Given the description of an element on the screen output the (x, y) to click on. 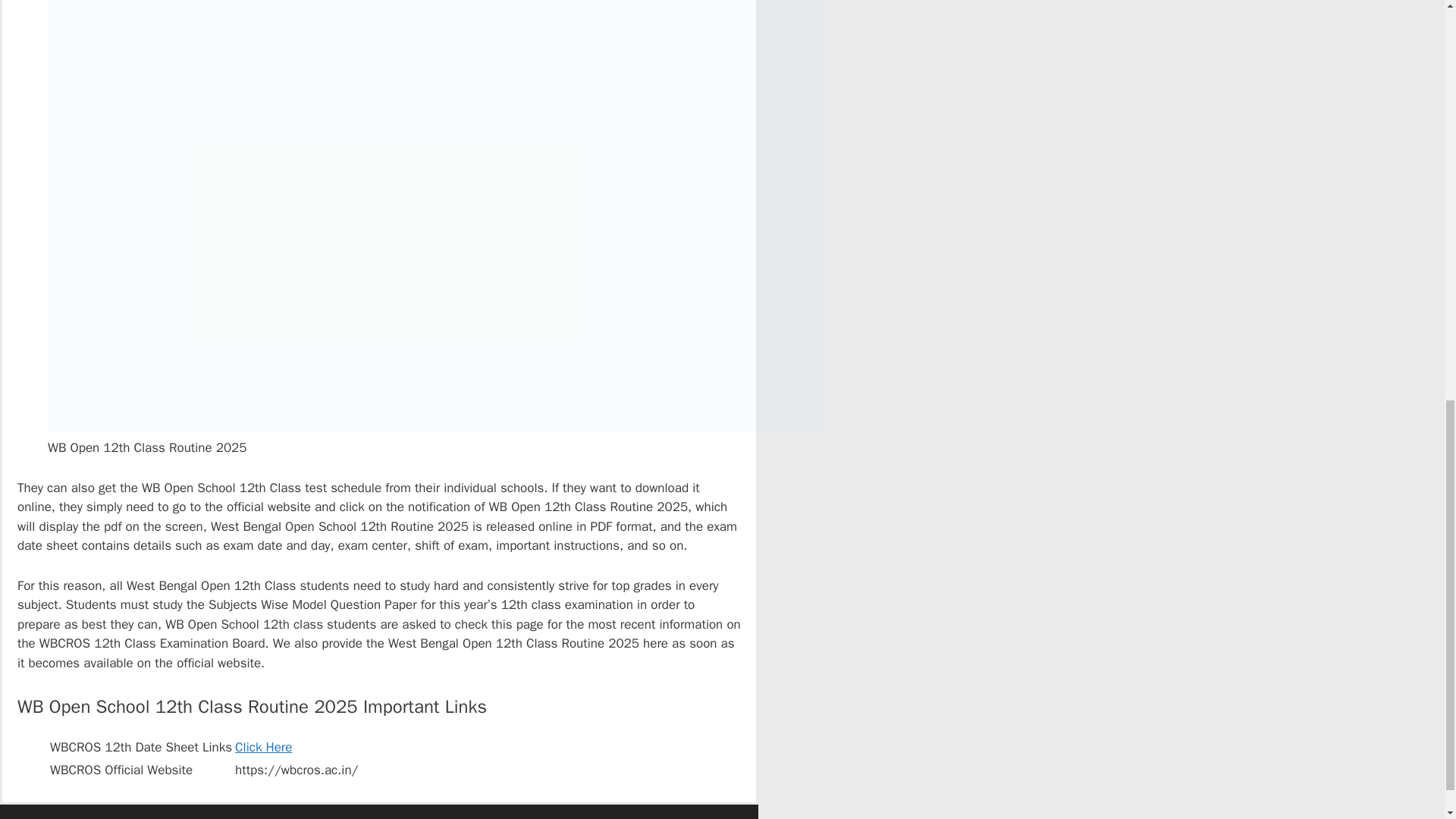
Click Here (263, 747)
